Given the description of an element on the screen output the (x, y) to click on. 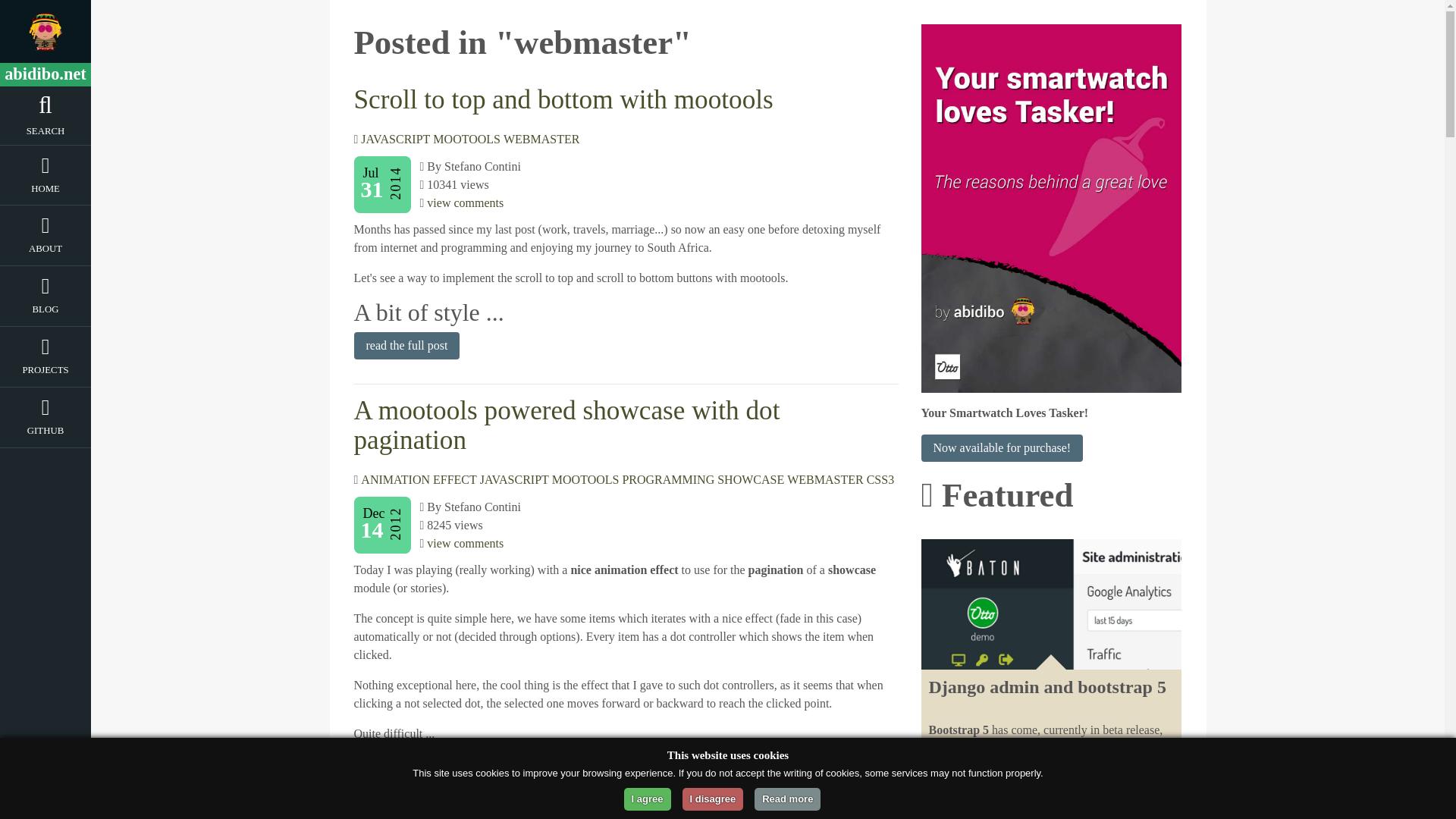
Home (45, 191)
read the full post (406, 768)
CSS3 (879, 479)
PROJECTS (45, 373)
WEBMASTER (541, 138)
SHOWCASE (750, 479)
MOOTOOLS (466, 138)
About (45, 251)
EFFECT (454, 479)
view comments (464, 543)
PROGRAMMING (667, 479)
BLOG (45, 312)
view comments (464, 202)
ANIMATION (395, 479)
MOOTOOLS (585, 479)
